Given the description of an element on the screen output the (x, y) to click on. 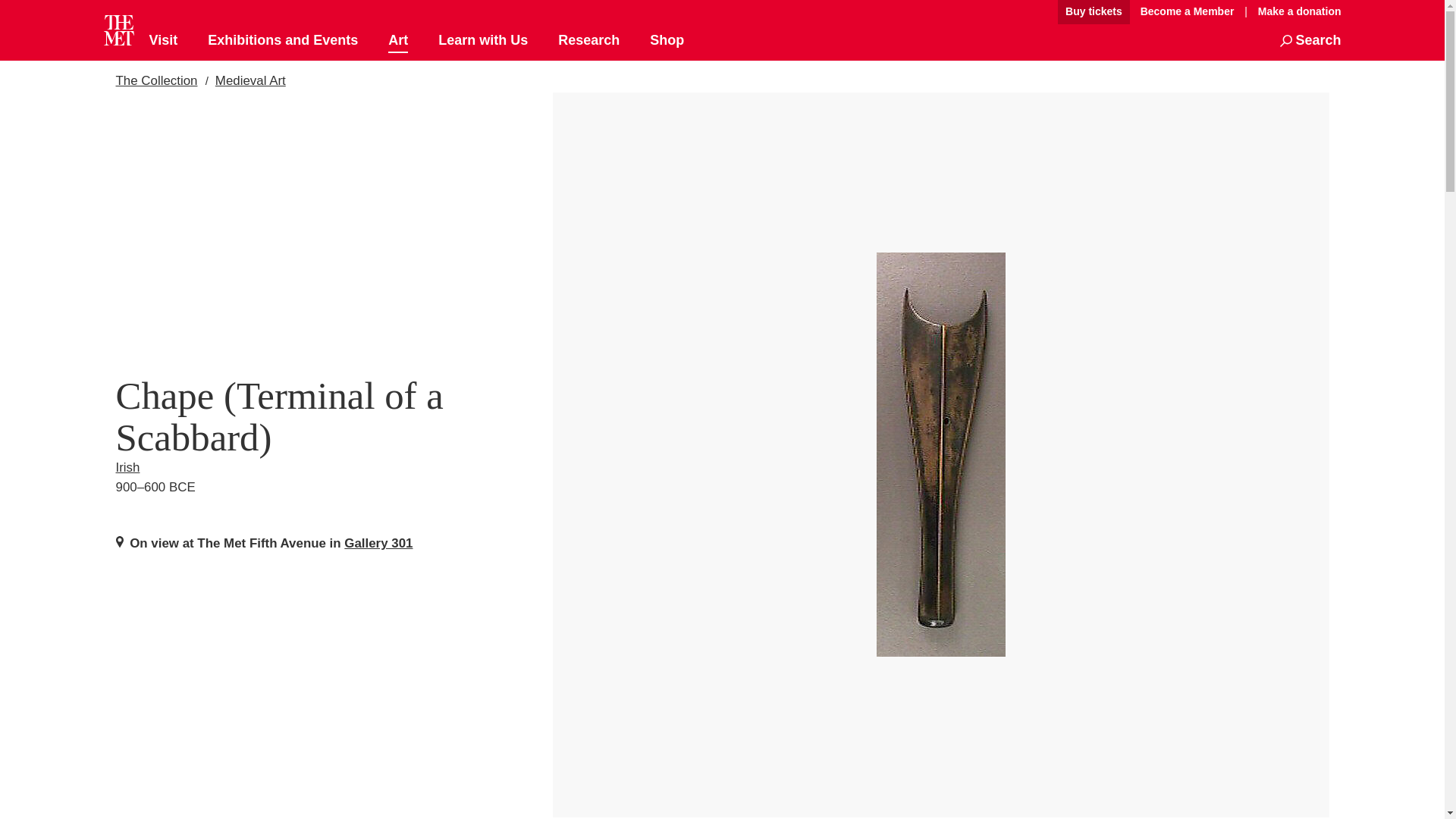
Search (1309, 41)
Make a donation (1295, 11)
The Collection (155, 80)
Member (1186, 12)
Search Button (1309, 41)
Research (588, 41)
Shop (666, 41)
tickets (1093, 12)
Homepage (118, 30)
Learn with Us (482, 41)
